Given the description of an element on the screen output the (x, y) to click on. 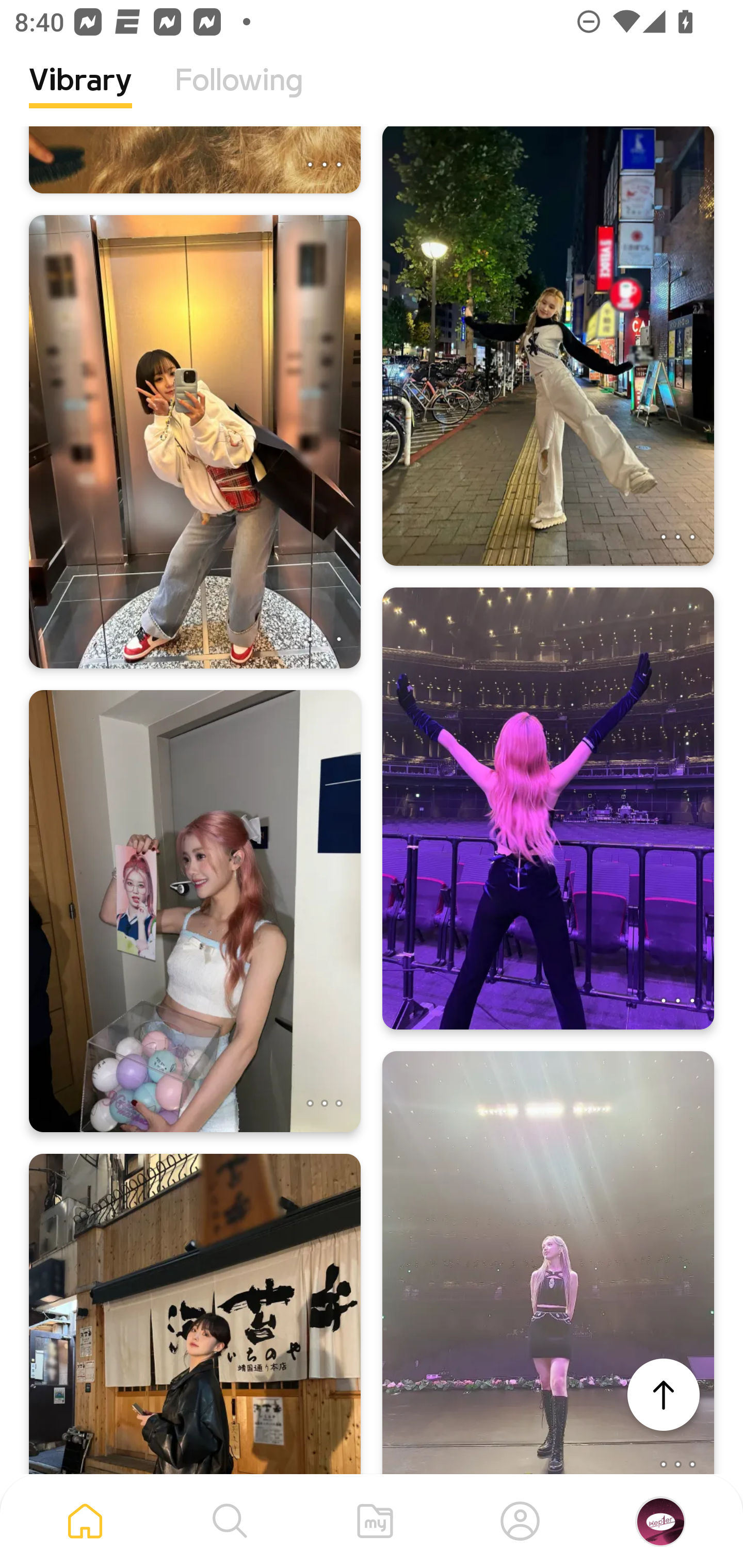
Vibrary (80, 95)
Following (239, 95)
